Given the description of an element on the screen output the (x, y) to click on. 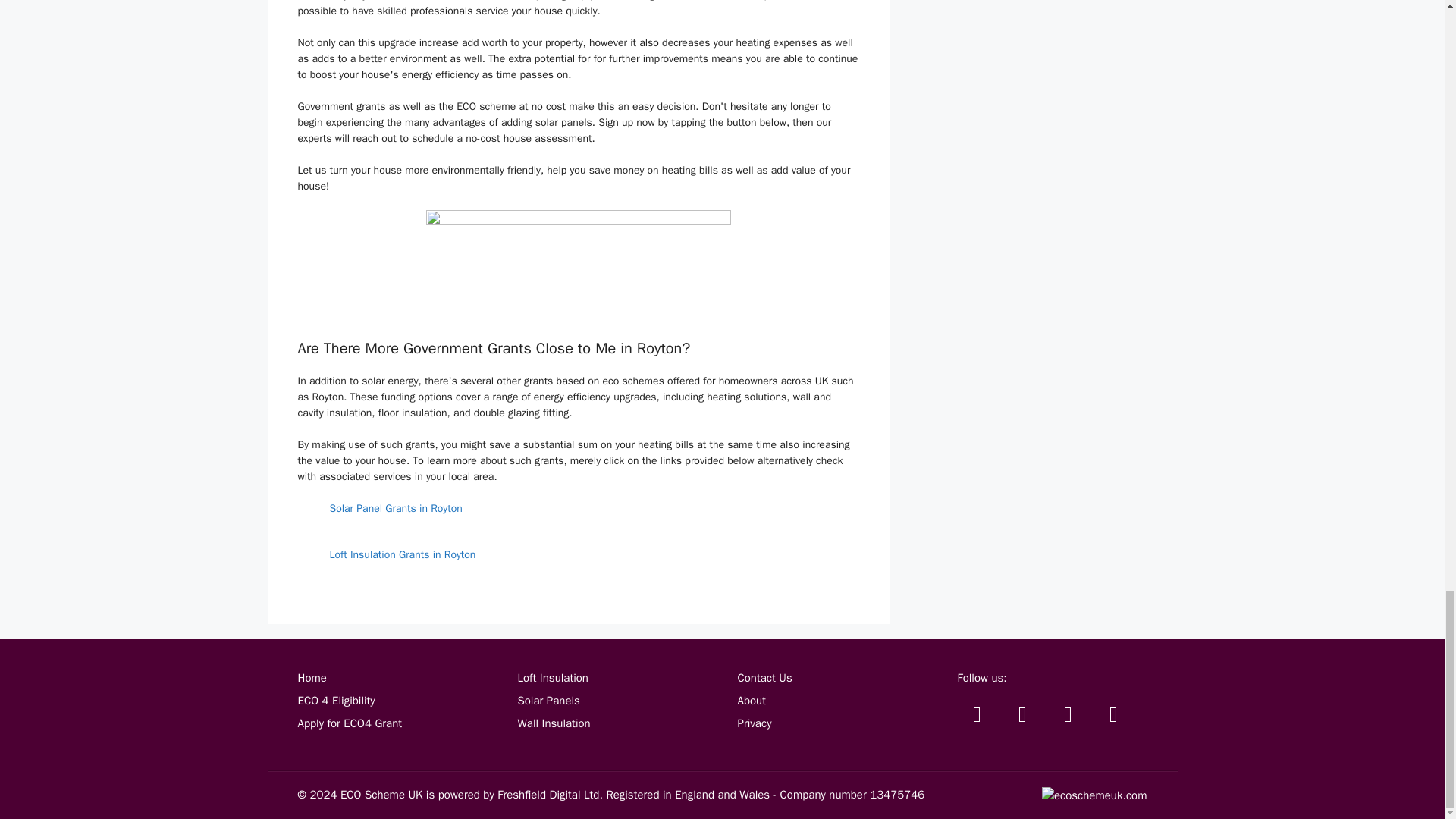
Solar Panel Grants in Royton (395, 508)
Solar Panel Grants in Royton (395, 508)
LinkedIn (1112, 713)
YouTube (1067, 713)
Wall Insulation (552, 723)
Privacy (753, 723)
Loft Insulation Grants in Royton (402, 554)
ecoschemeuk.com (1094, 795)
Loft Insulation Grants in Royton (402, 554)
Loft Insulation (552, 677)
